Given the description of an element on the screen output the (x, y) to click on. 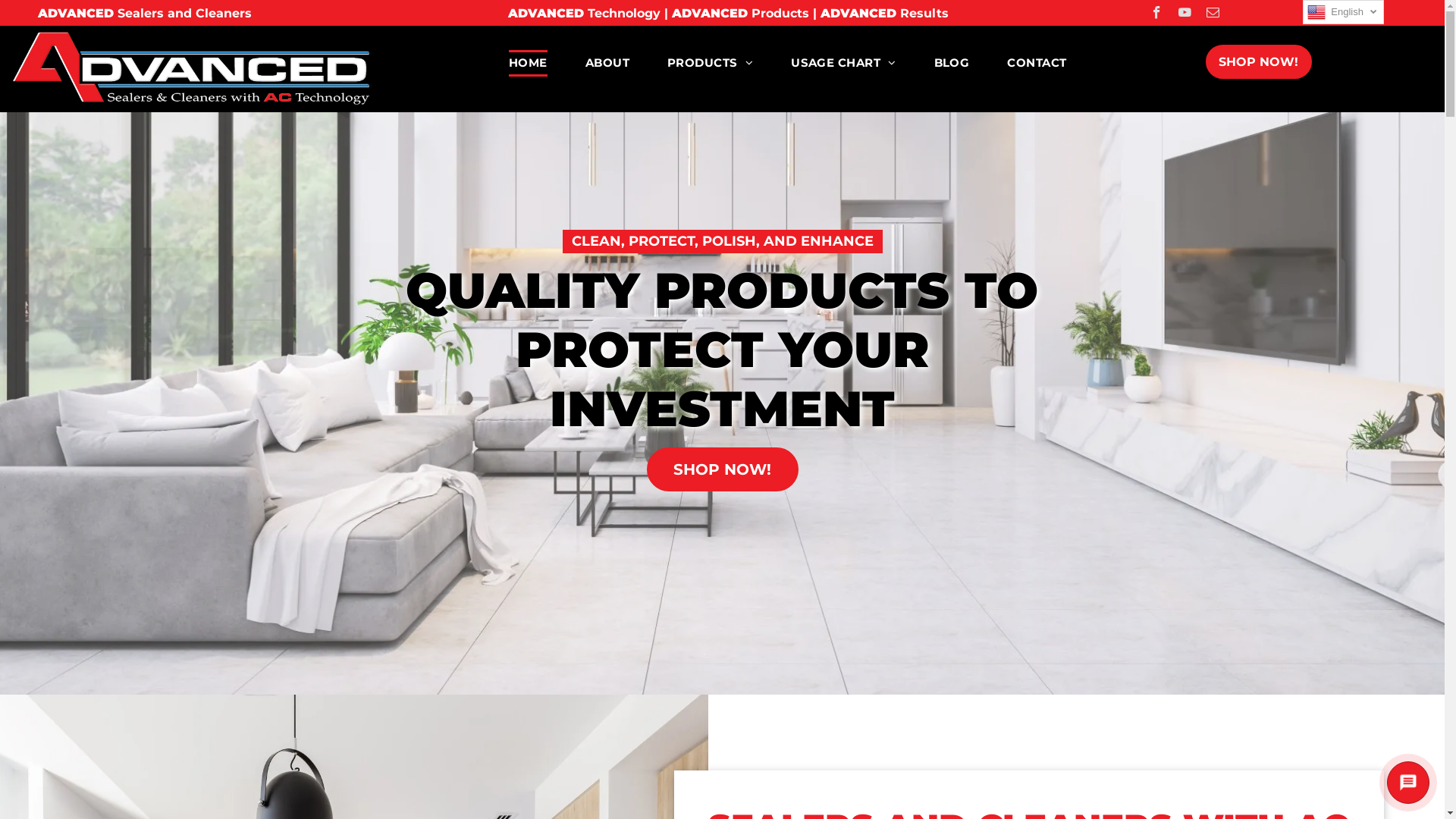
CONTACT Element type: text (1036, 63)
HOME Element type: text (527, 63)
SHOP NOW! Element type: text (721, 469)
USAGE CHART Element type: text (842, 63)
PRODUCTS Element type: text (709, 63)
ABOUT Element type: text (607, 63)
BLOG Element type: text (951, 63)
SHOP NOW! Element type: text (1258, 61)
English Element type: text (1342, 12)
